Given the description of an element on the screen output the (x, y) to click on. 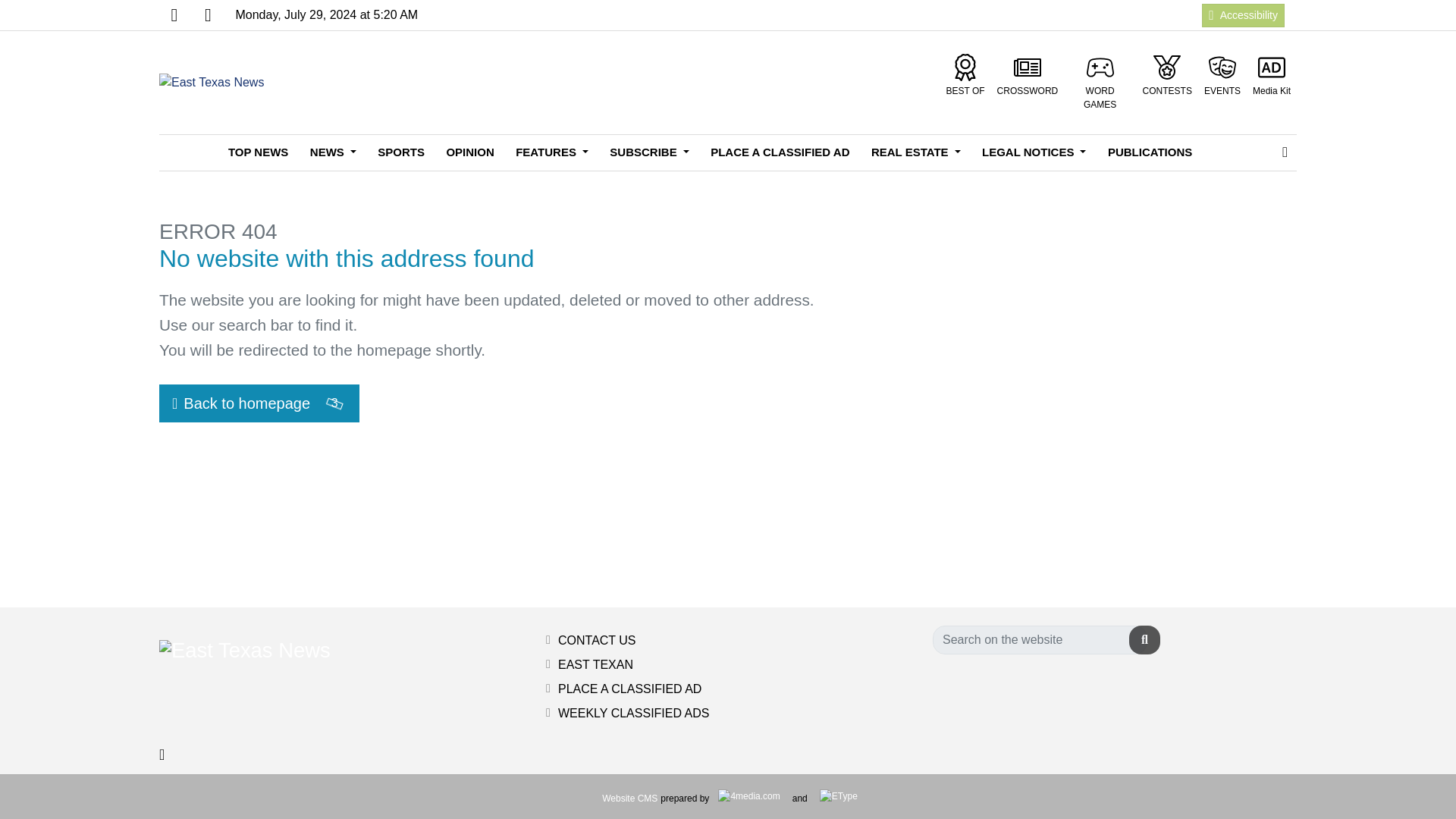
Go to Facebook.com (173, 15)
WORD GAMES (1100, 82)
RSS (207, 15)
LEGAL NOTICES (1033, 152)
Go to homepage (210, 82)
CONTESTS (1167, 75)
TOP NEWS (258, 152)
www.4media.com (630, 798)
FEATURES (551, 152)
CROSSWORDS (1027, 75)
SUBSCRIBE (648, 152)
Go to RSS (207, 15)
Facebook.com (173, 15)
WORD GAMES (1100, 82)
